Given the description of an element on the screen output the (x, y) to click on. 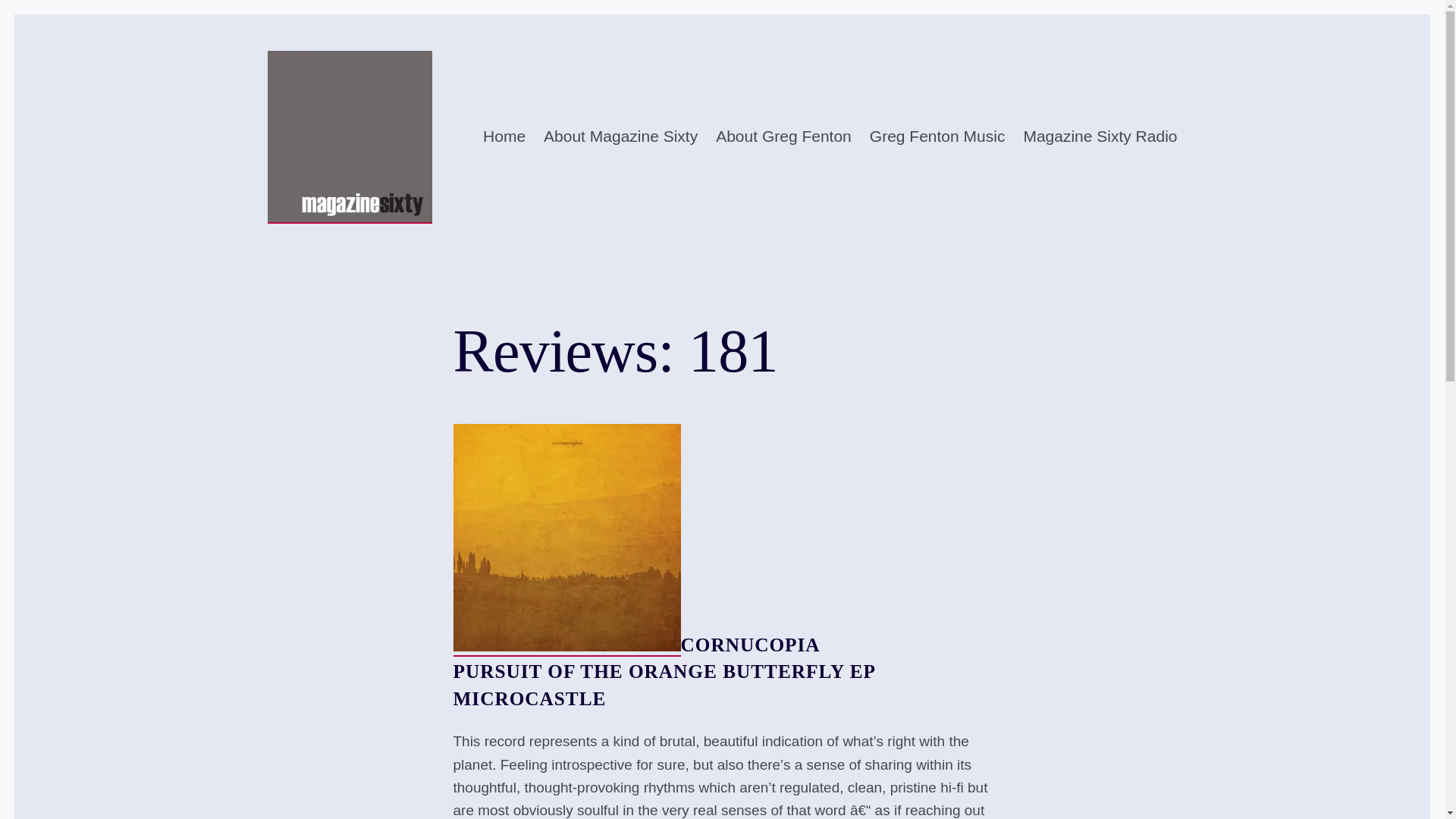
About Greg Fenton (783, 136)
Home (504, 136)
About Magazine Sixty (620, 136)
Greg Fenton Music (937, 136)
Magazine Sixty Radio (1099, 136)
